Given the description of an element on the screen output the (x, y) to click on. 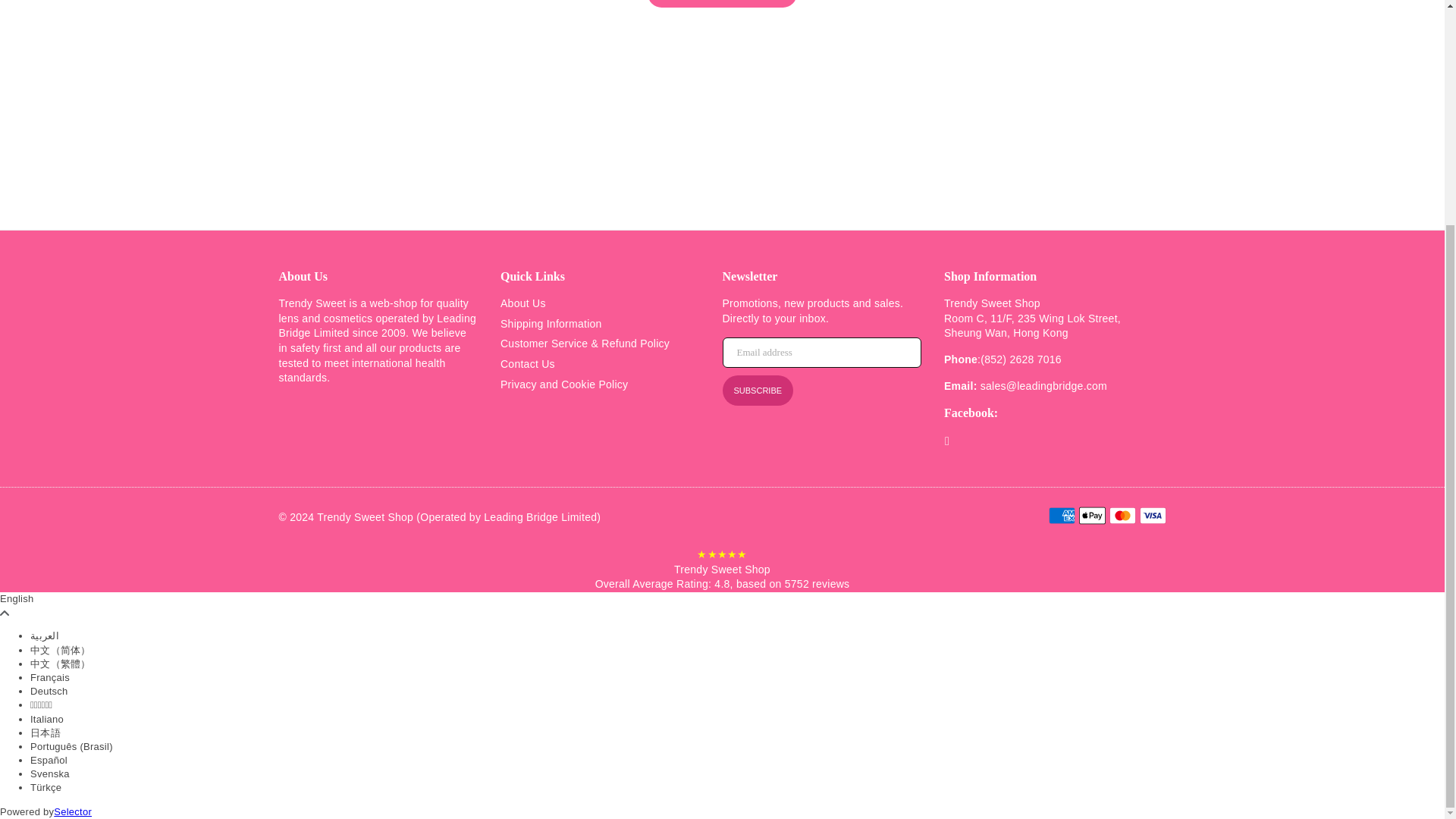
American Express (1061, 515)
Mastercard (1121, 515)
Trendy Sweet Shop on Facebook (947, 441)
Apple Pay (1091, 515)
Visa (1152, 515)
